Given the description of an element on the screen output the (x, y) to click on. 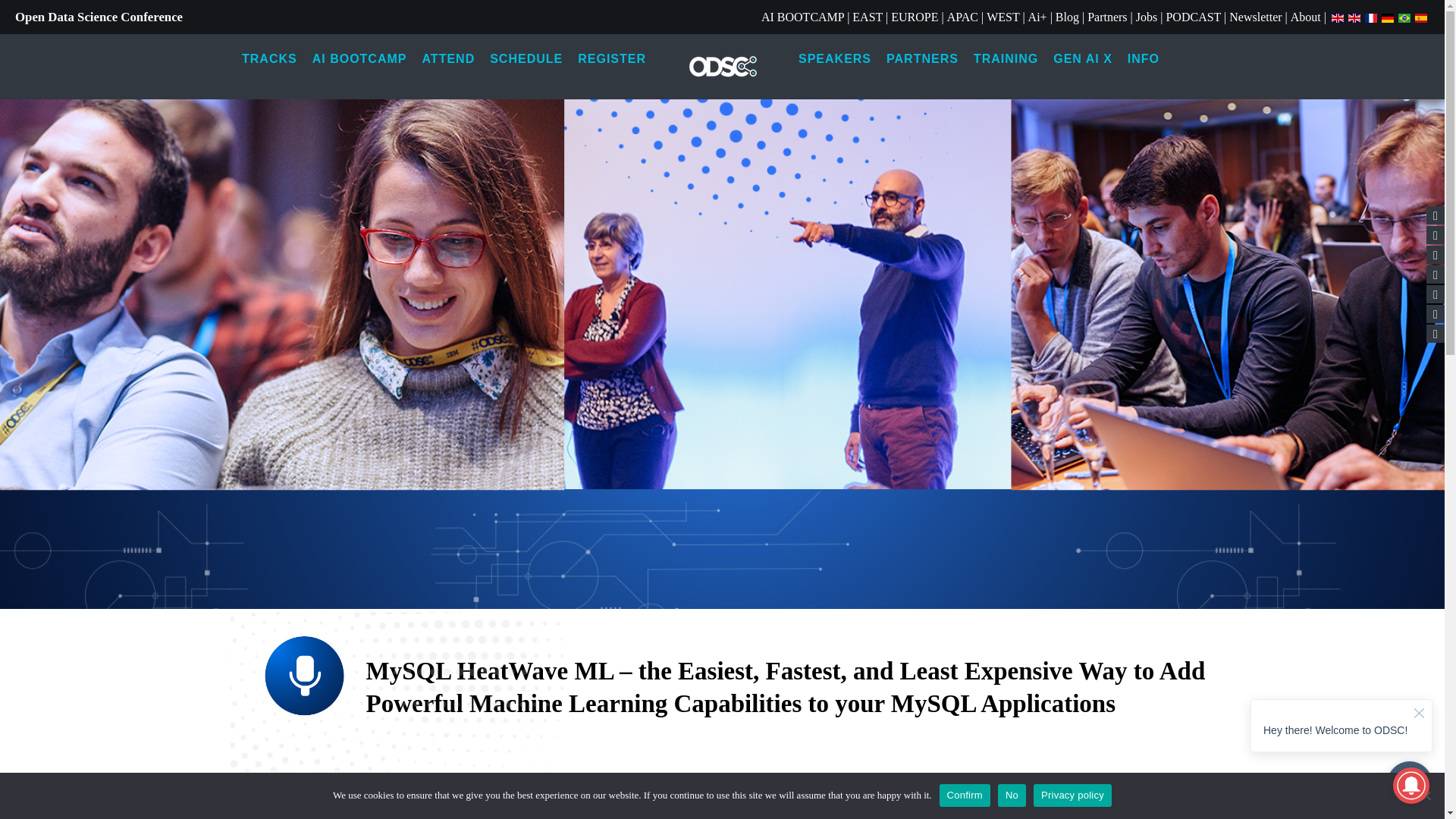
WEST (1003, 16)
EUROPE (914, 16)
Jobs (1146, 16)
Blog (1066, 16)
English (1337, 16)
EUROPE (914, 16)
About (1305, 16)
PODCAST (1193, 16)
Blog (1066, 16)
APAC (962, 16)
EAST (866, 16)
About (1305, 16)
AI BOOTCAMP (802, 16)
AI BOOTCAMP (802, 16)
English (1353, 16)
